Given the description of an element on the screen output the (x, y) to click on. 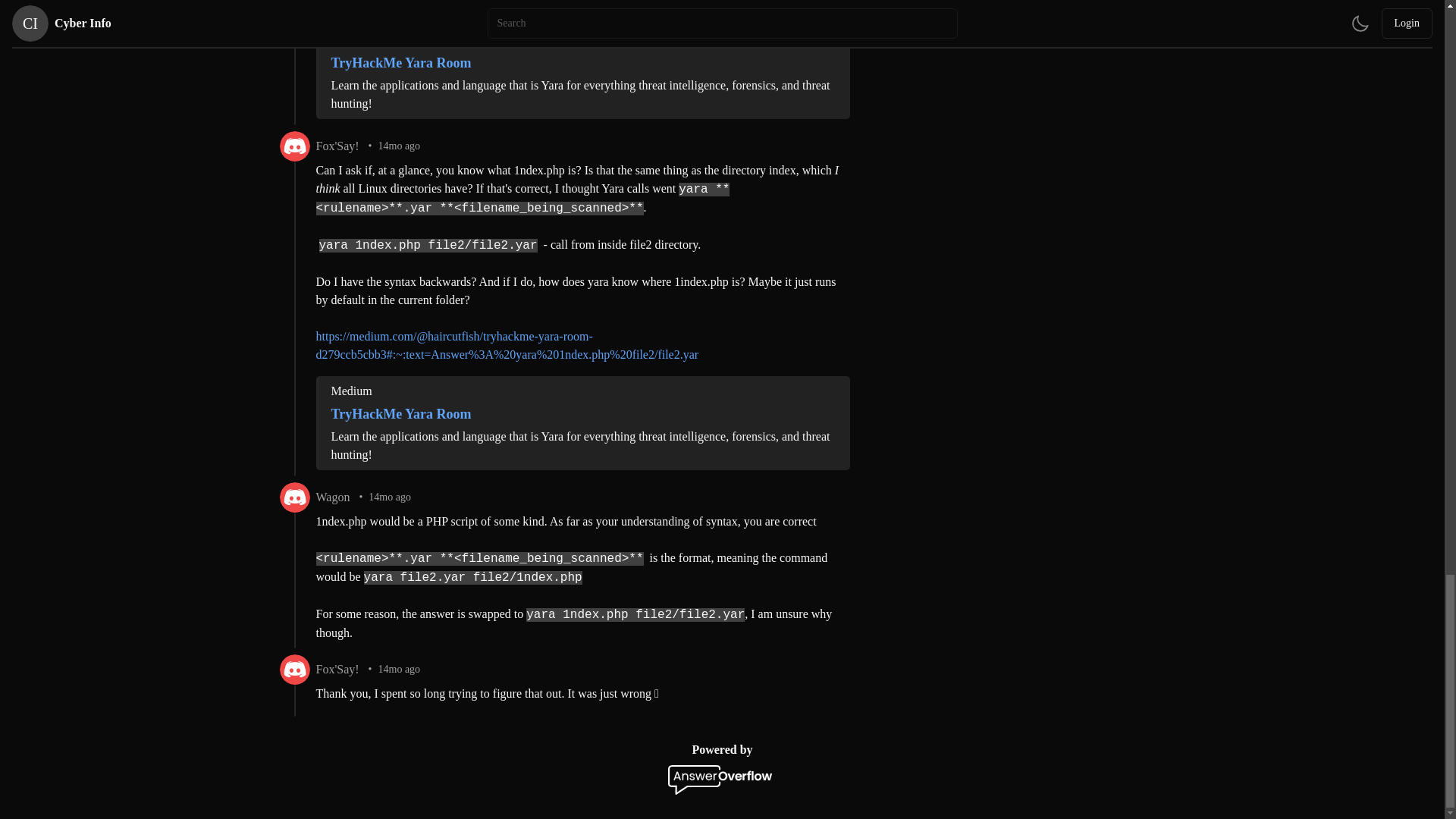
TryHackMe Yara Room (580, 62)
Fox'Say! (336, 146)
TryHackMe Yara Room (580, 414)
Wagon (332, 497)
Fox'Say! (336, 669)
